Given the description of an element on the screen output the (x, y) to click on. 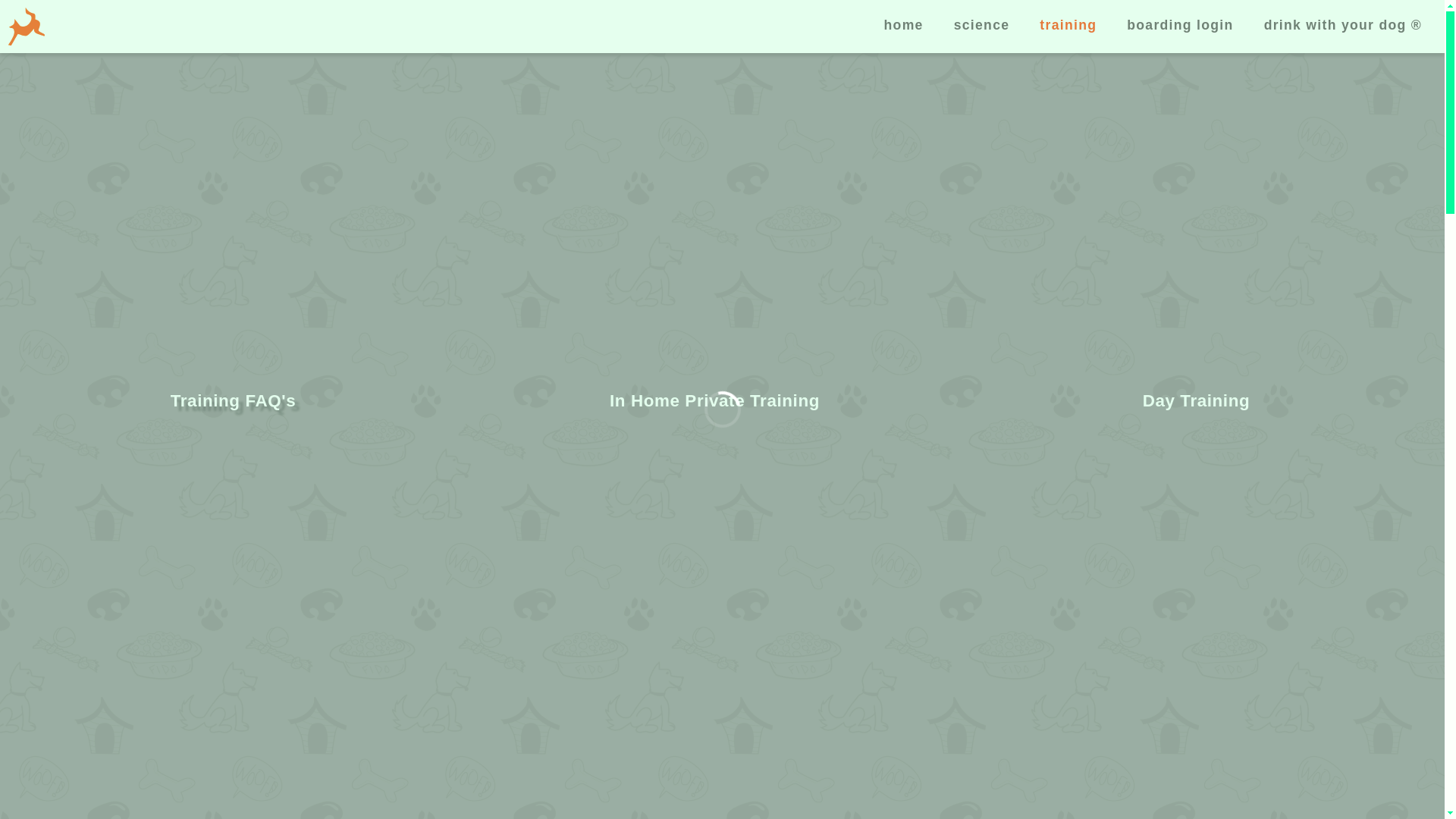
In Home Private Training (714, 401)
Day Training (1196, 401)
training (1068, 25)
home (904, 25)
Training FAQ'S (232, 401)
science (982, 25)
boarding login (1179, 25)
